Given the description of an element on the screen output the (x, y) to click on. 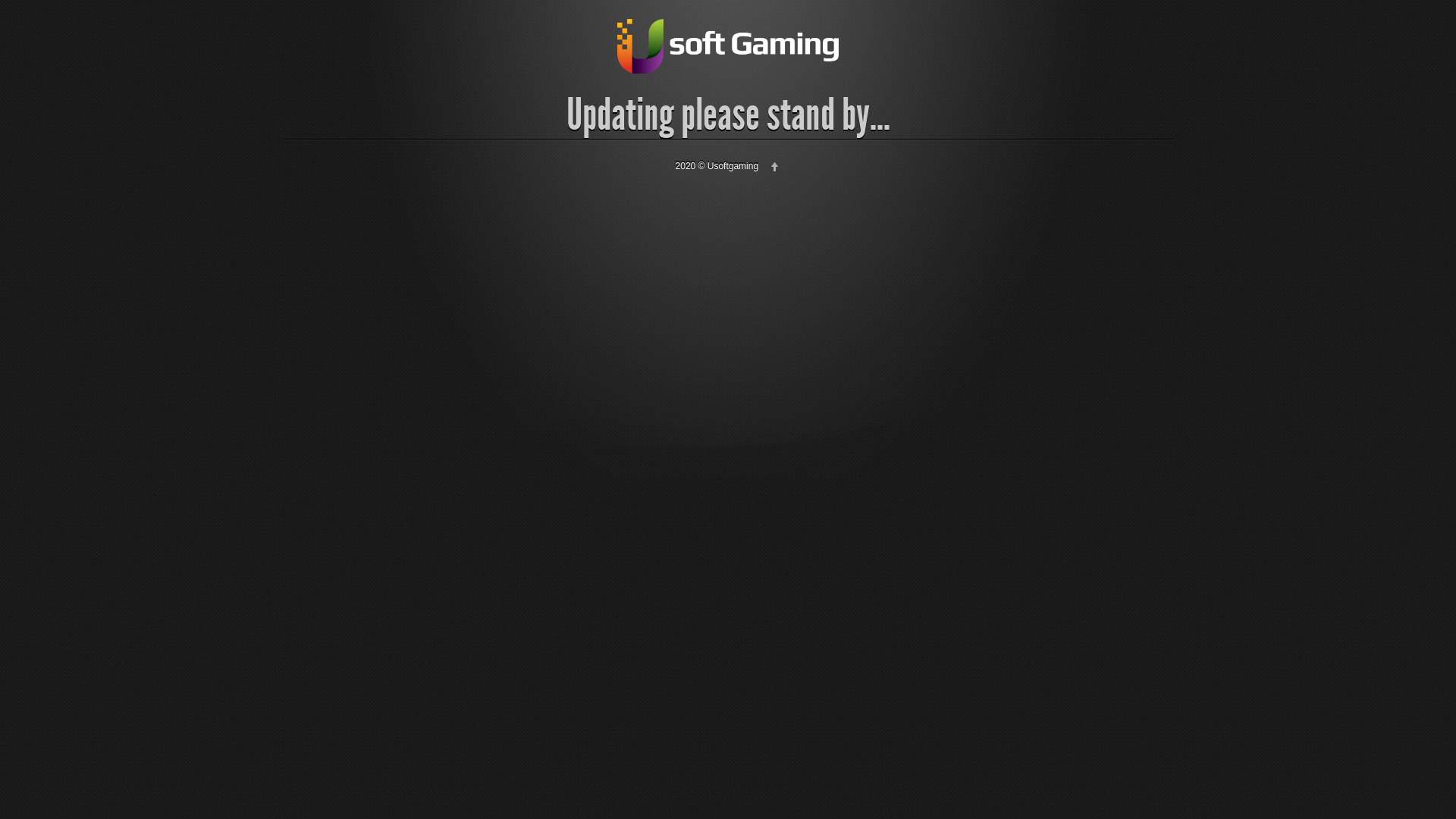
Go to the top ! (775, 165)
Usoftgaming (728, 45)
